Given the description of an element on the screen output the (x, y) to click on. 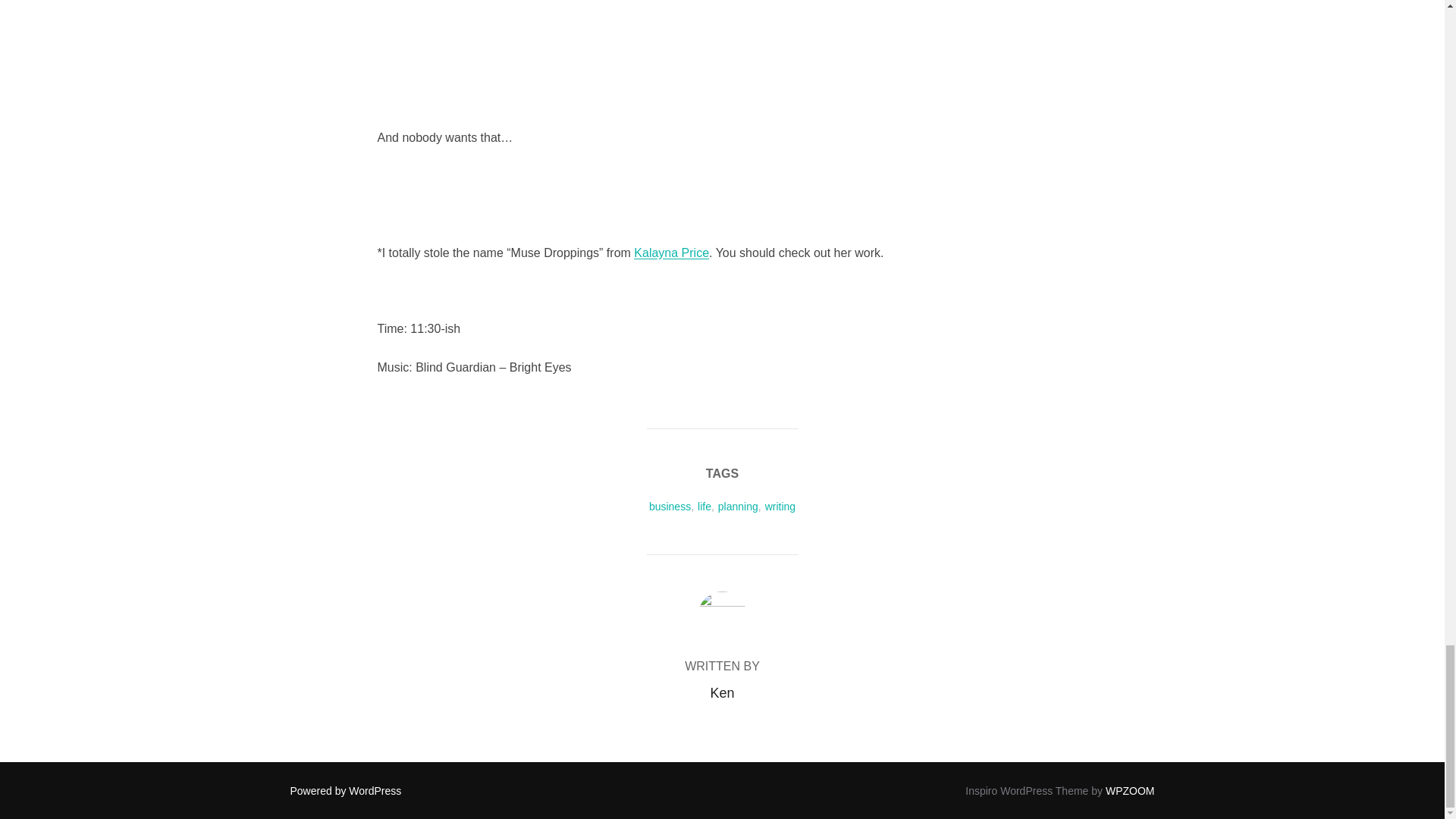
life (704, 506)
Posts by Ken (721, 693)
business (669, 506)
Kalayna Price (671, 252)
